Given the description of an element on the screen output the (x, y) to click on. 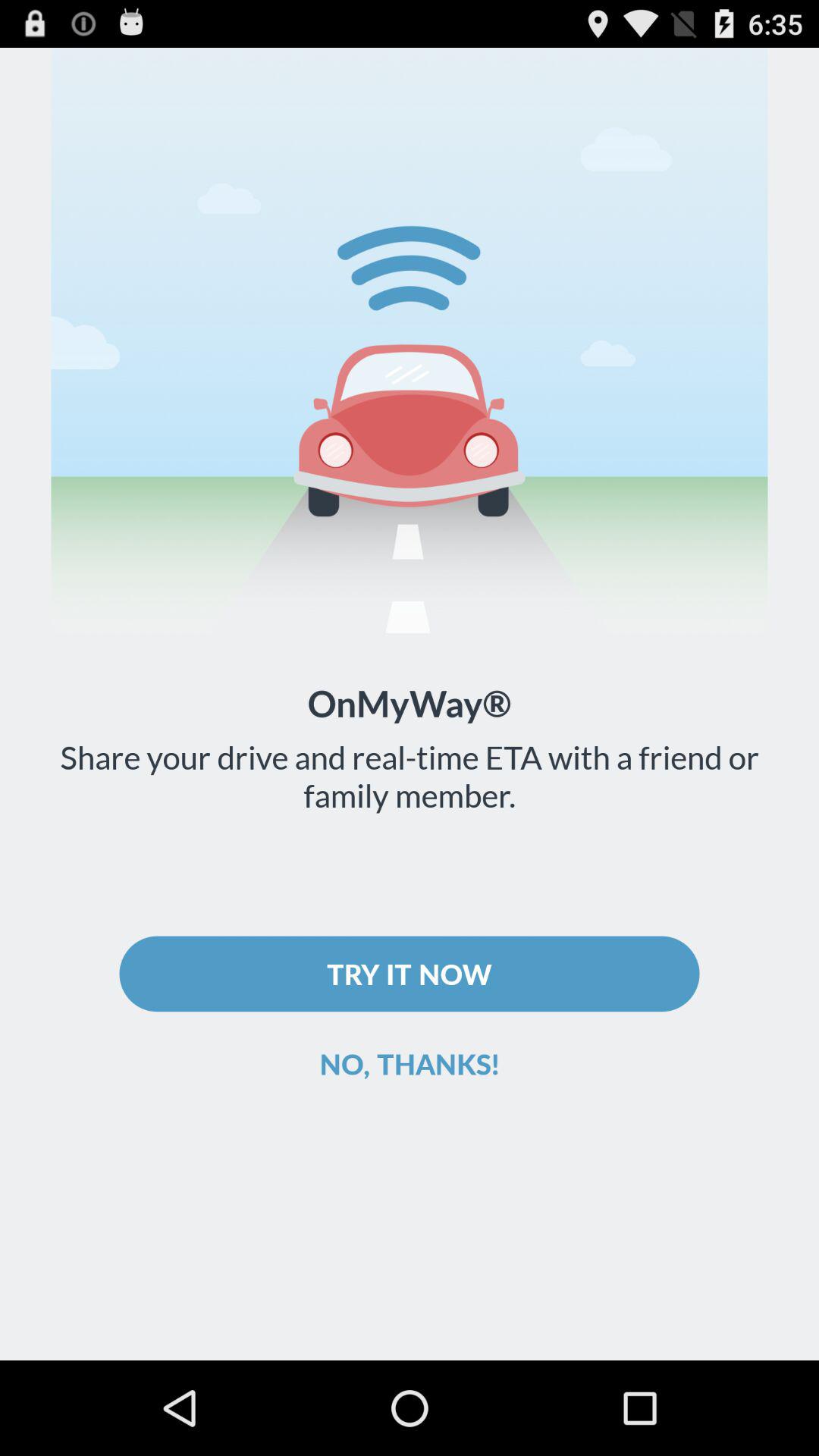
flip to the no, thanks! icon (409, 1063)
